Given the description of an element on the screen output the (x, y) to click on. 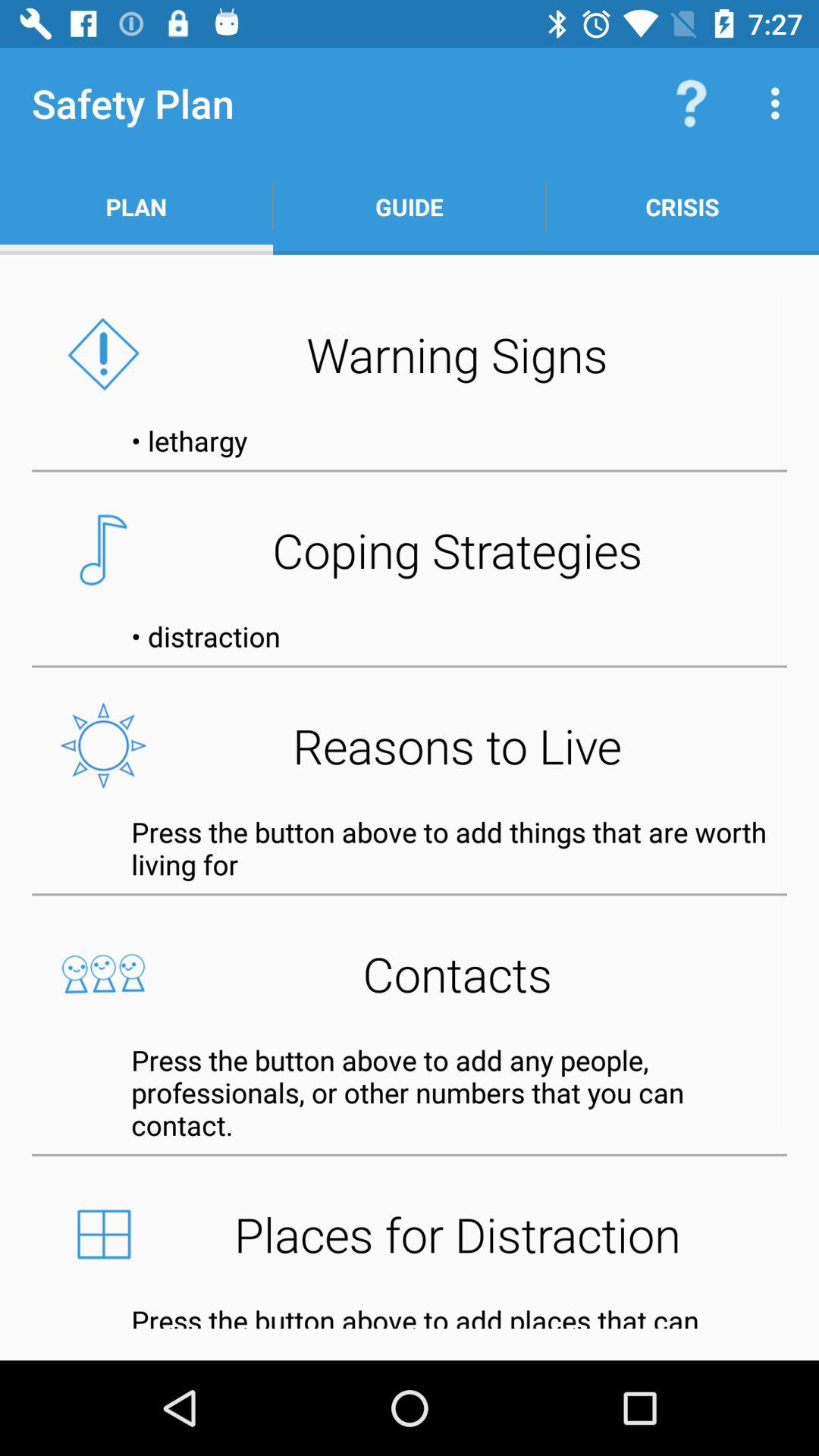
click app above crisis (779, 103)
